Given the description of an element on the screen output the (x, y) to click on. 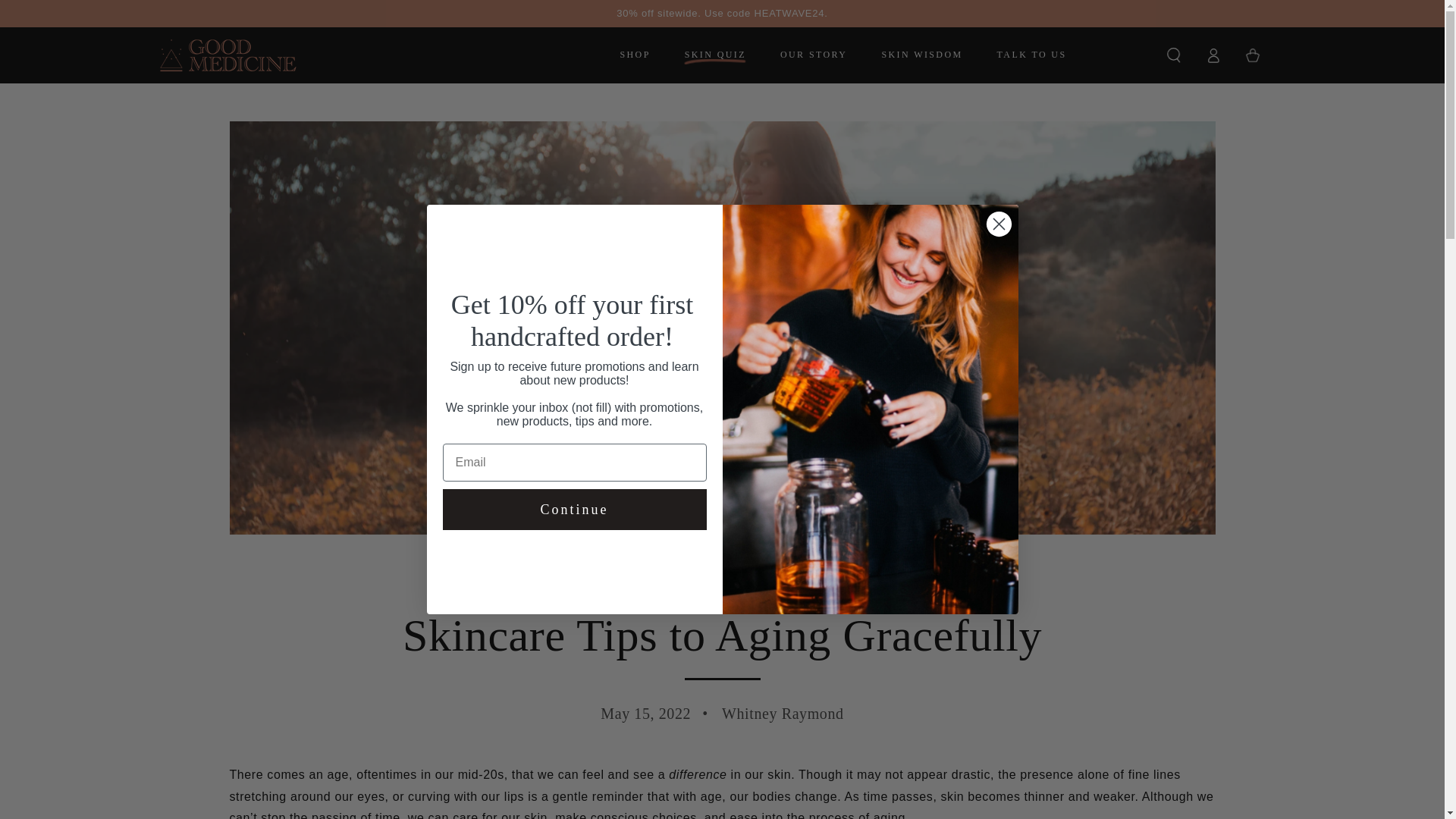
SKIP TO CONTENT (67, 14)
Back to the frontpage (655, 577)
